Given the description of an element on the screen output the (x, y) to click on. 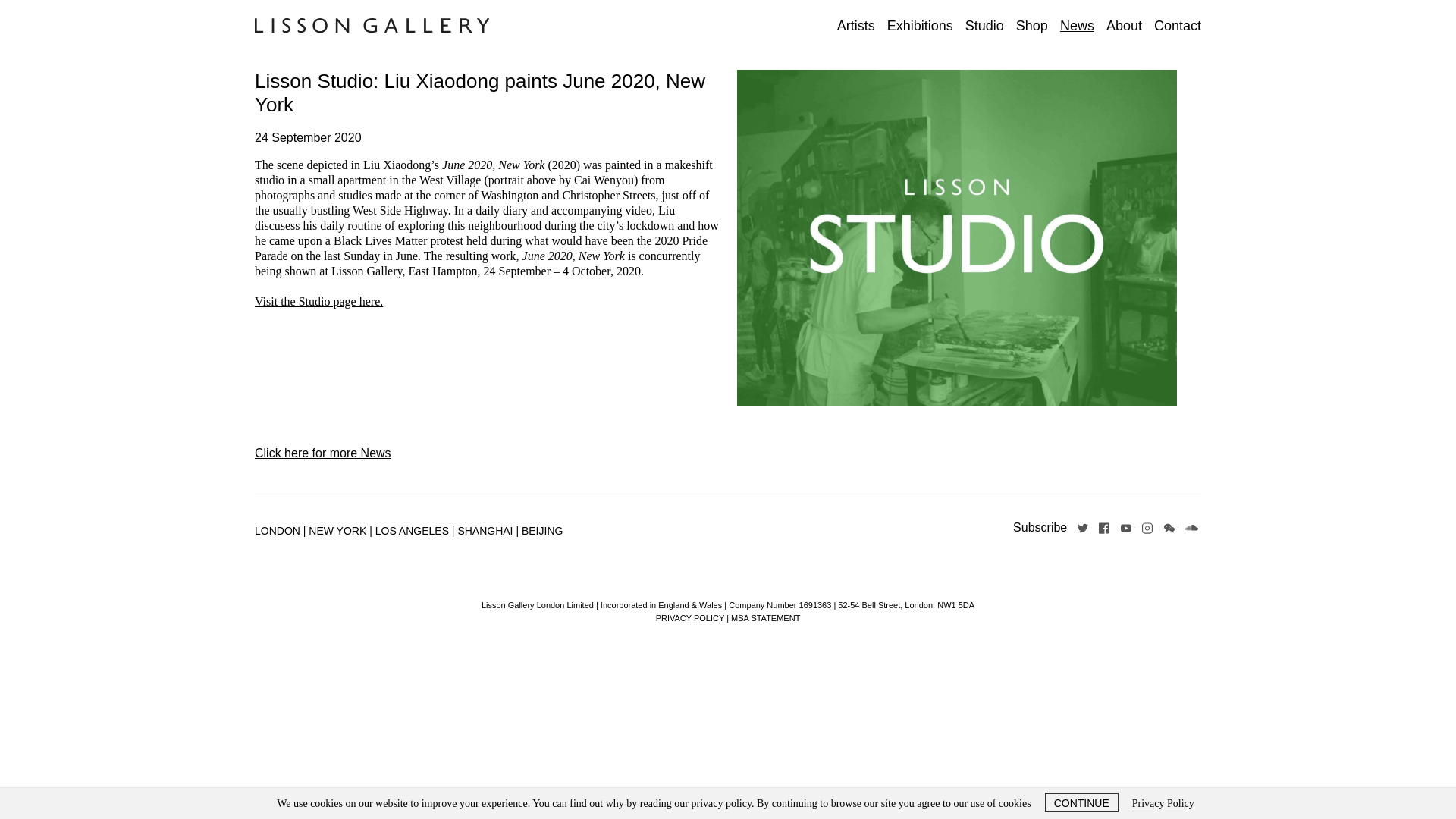
MSA STATEMENT (764, 617)
Click here for more News (322, 452)
Exhibitions (919, 25)
Visit the Studio page here. (318, 300)
PRIVACY POLICY (689, 617)
Artists (856, 25)
